Given the description of an element on the screen output the (x, y) to click on. 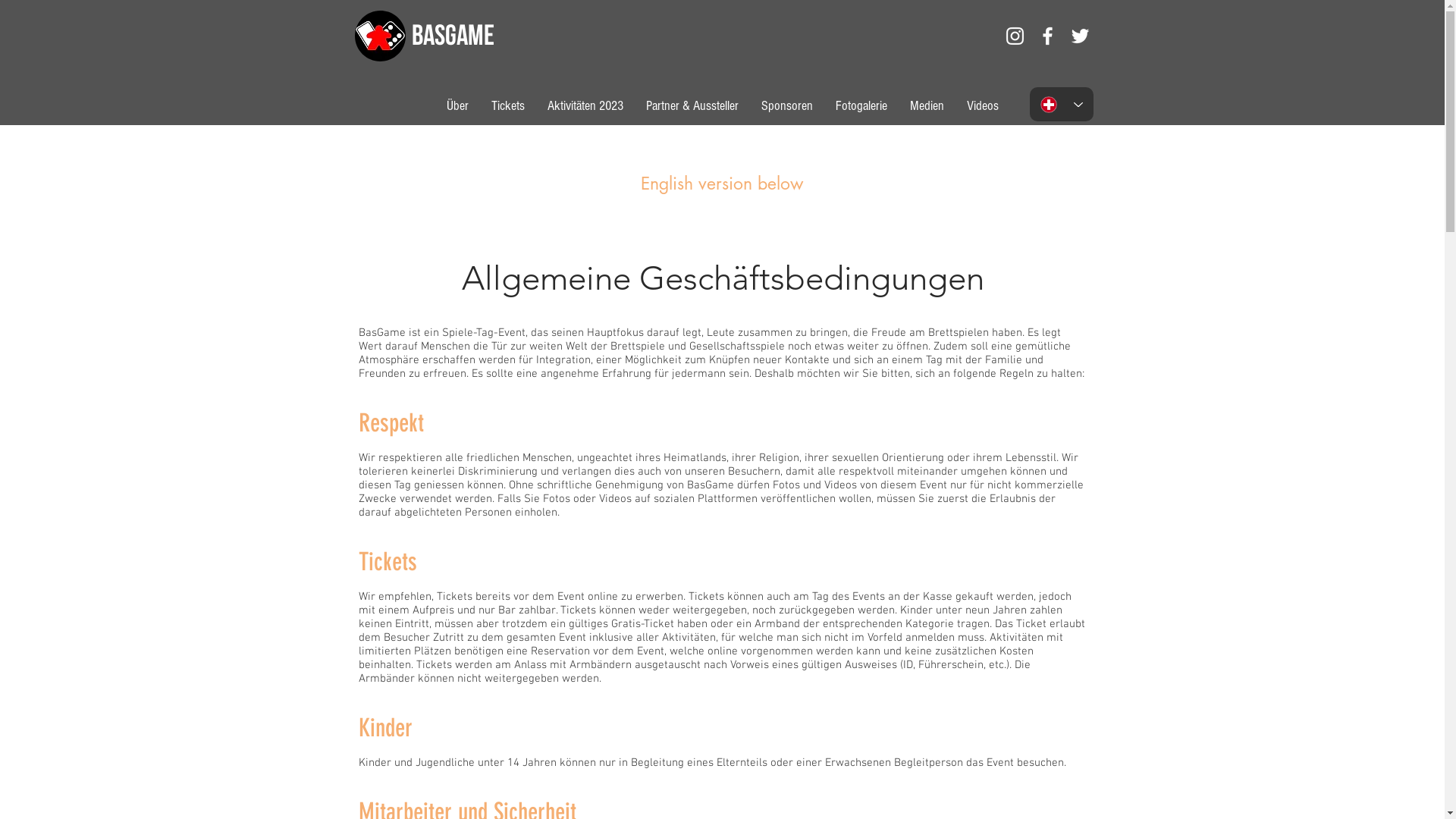
English version below Element type: text (721, 183)
Partner & Aussteller Element type: text (691, 106)
Sponsoren Element type: text (786, 106)
Videos Element type: text (982, 106)
BasGame Element type: text (452, 37)
Tickets Element type: text (507, 106)
Medien Element type: text (925, 106)
